Given the description of an element on the screen output the (x, y) to click on. 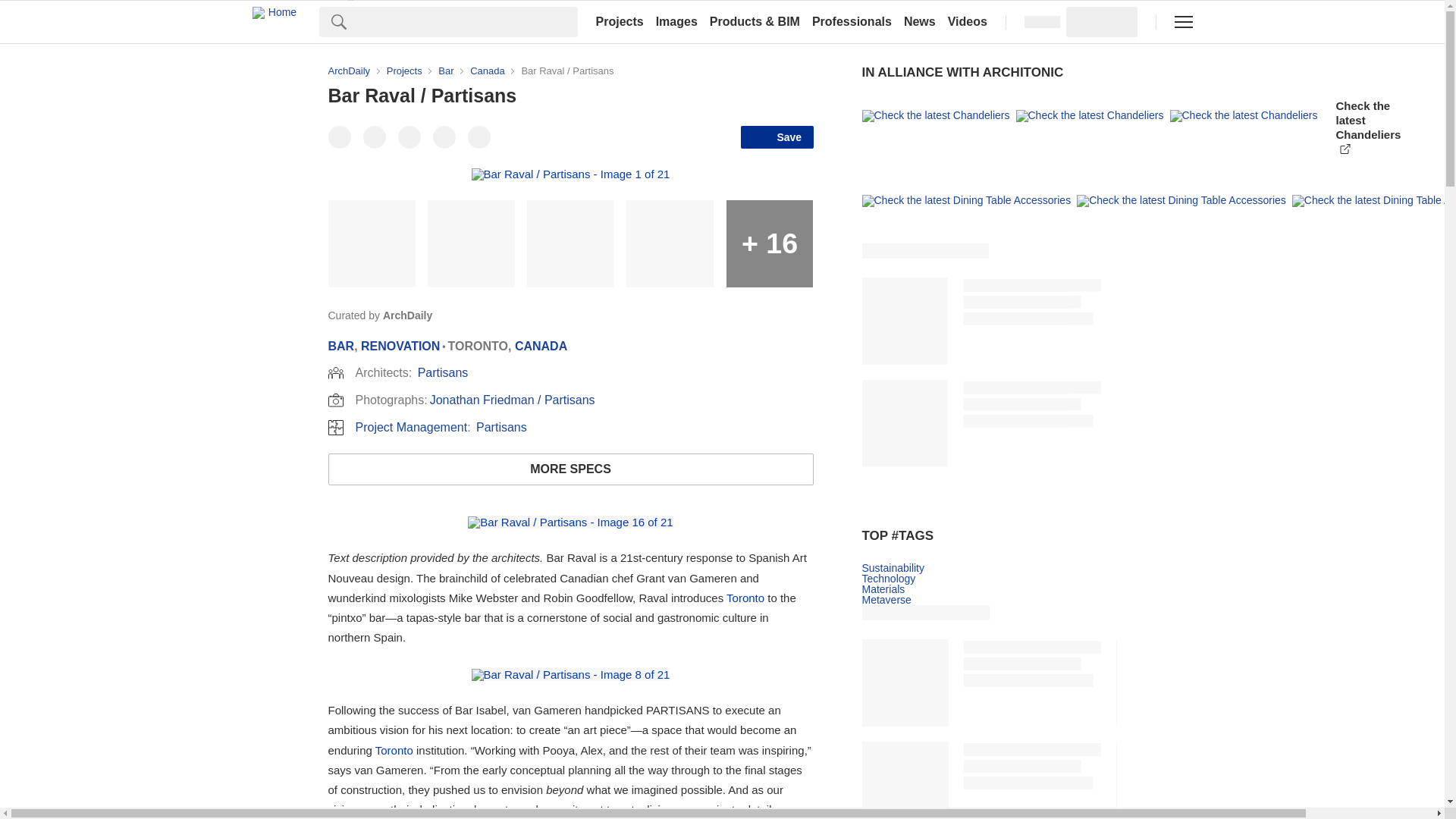
Professionals (852, 21)
Videos (967, 21)
News (920, 21)
Projects (619, 21)
Images (676, 21)
